Given the description of an element on the screen output the (x, y) to click on. 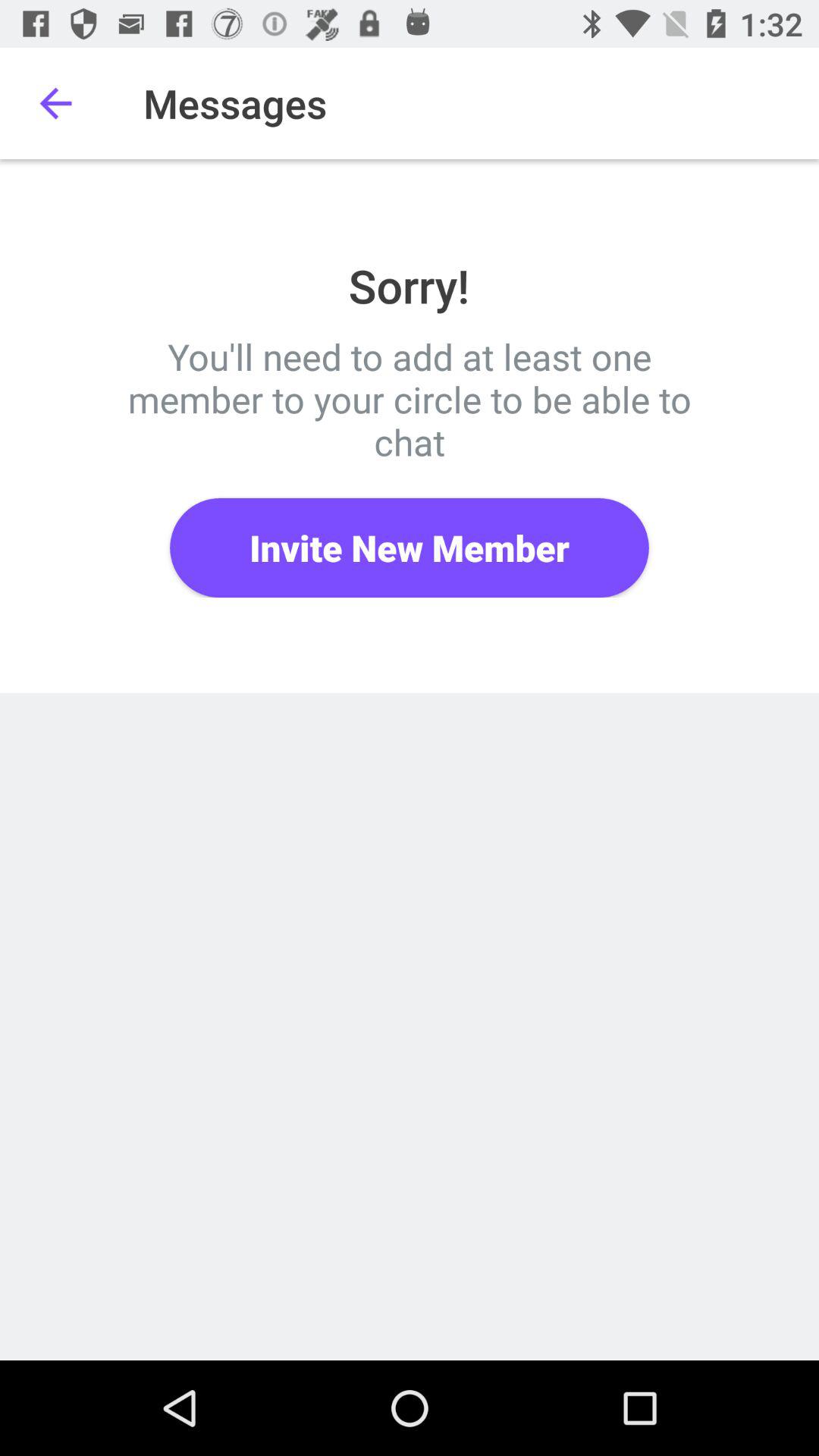
flip until the invite new member (409, 547)
